Given the description of an element on the screen output the (x, y) to click on. 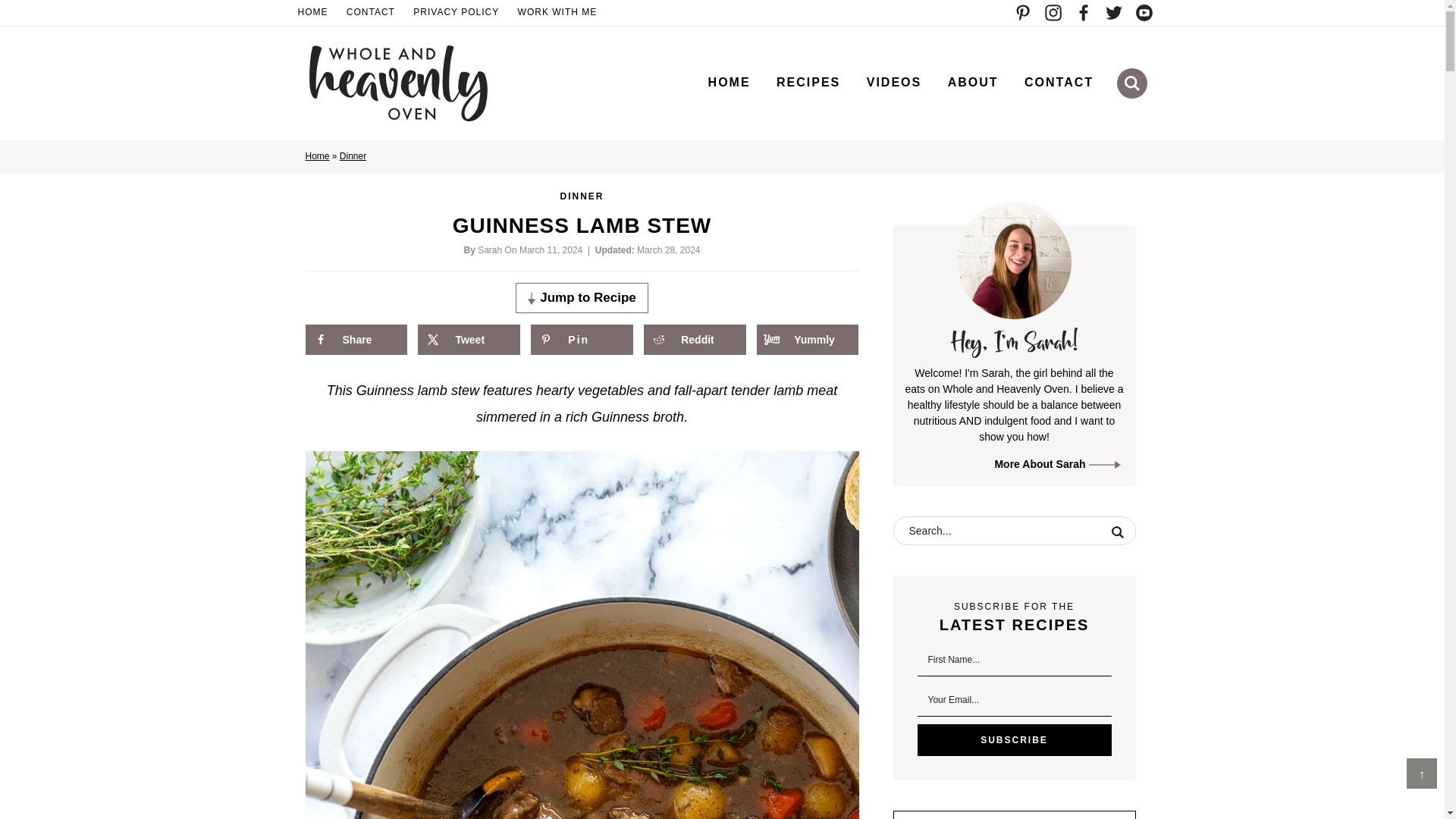
Save to Pinterest (581, 339)
WORK WITH ME (558, 13)
VIDEOS (893, 82)
ABOUT (973, 82)
Share on Facebook (355, 339)
HOME (729, 82)
CONTACT (371, 13)
RECIPES (807, 82)
Share on Reddit (694, 339)
CONTACT (1058, 82)
Share on X (468, 339)
Home (316, 155)
